Given the description of an element on the screen output the (x, y) to click on. 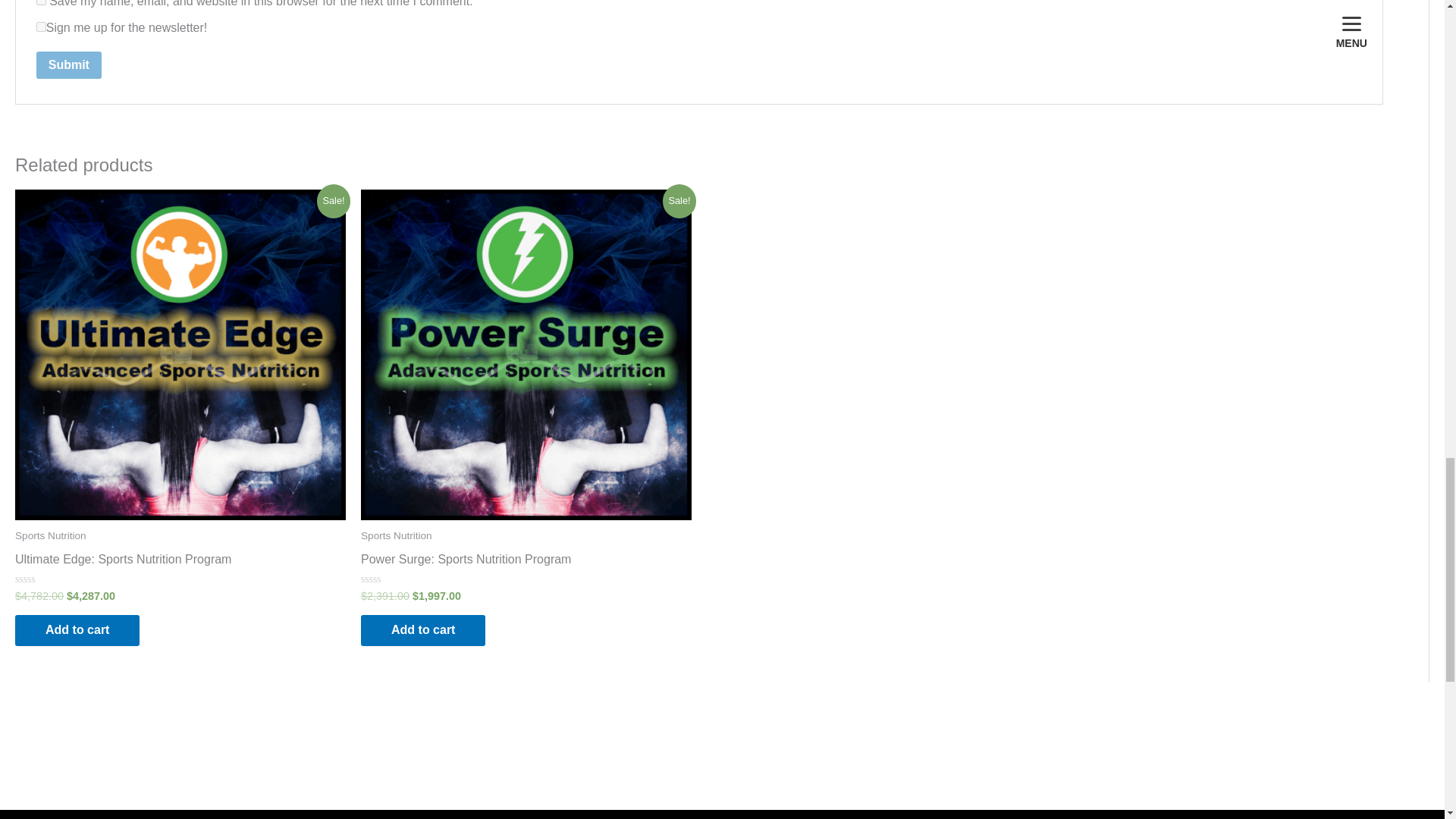
1 (41, 26)
Add to cart (422, 630)
Add to cart (76, 630)
yes (41, 2)
Submit (68, 64)
Power Surge: Sports Nutrition Program (465, 563)
Submit (68, 64)
Ultimate Edge: Sports Nutrition Program (122, 563)
